Given the description of an element on the screen output the (x, y) to click on. 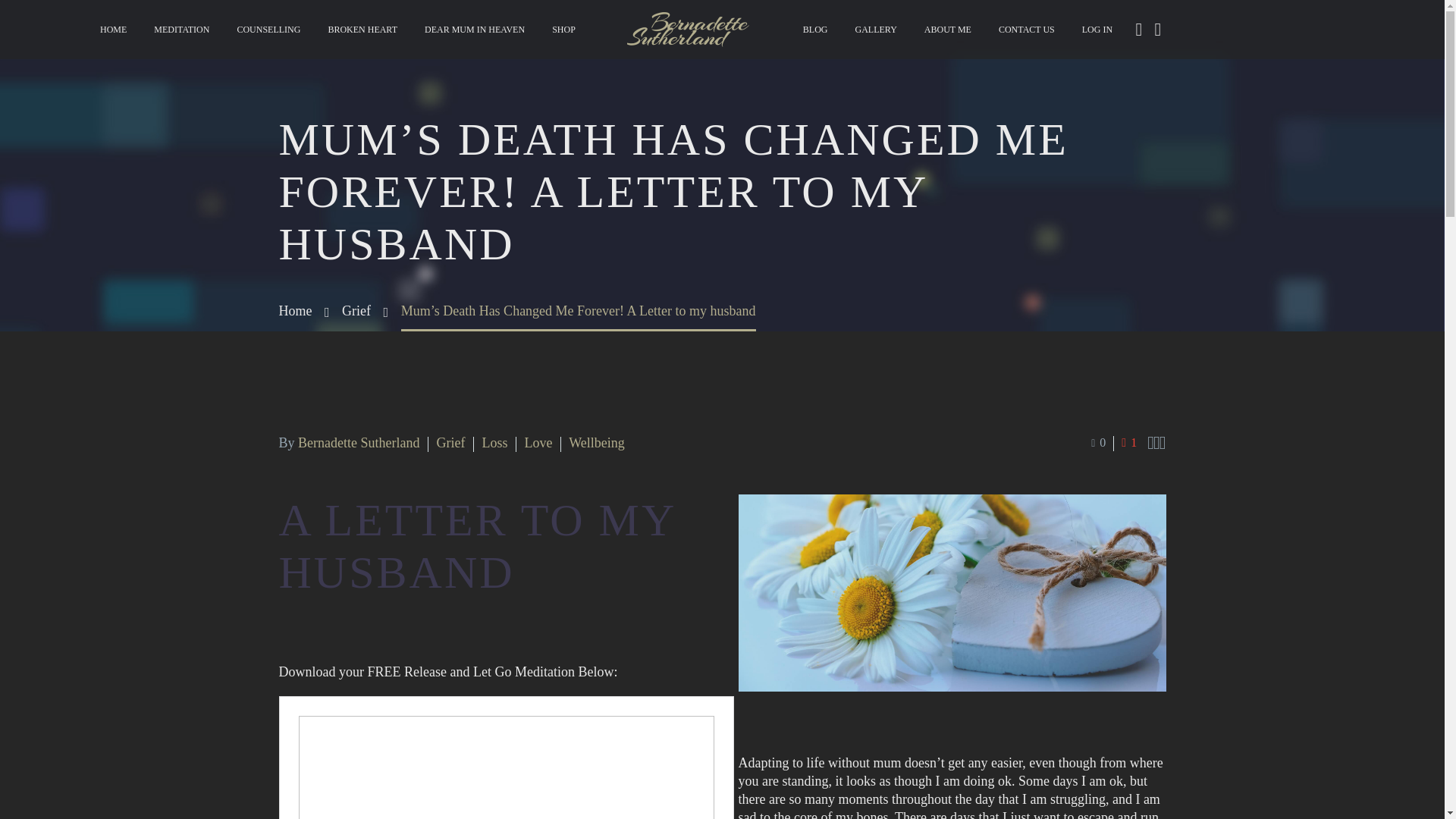
SHOP (563, 29)
Grief (356, 310)
GALLERY (875, 29)
ABOUT ME (947, 29)
COUNSELLING (268, 29)
Grief (449, 442)
MEDITATION (181, 29)
View all posts in Grief (449, 442)
View all posts in Love (537, 442)
HOME (113, 29)
BLOG (816, 29)
Previous post (1150, 442)
Like this (1129, 443)
Bernadette Sutherland (358, 442)
Next post (1162, 442)
